Given the description of an element on the screen output the (x, y) to click on. 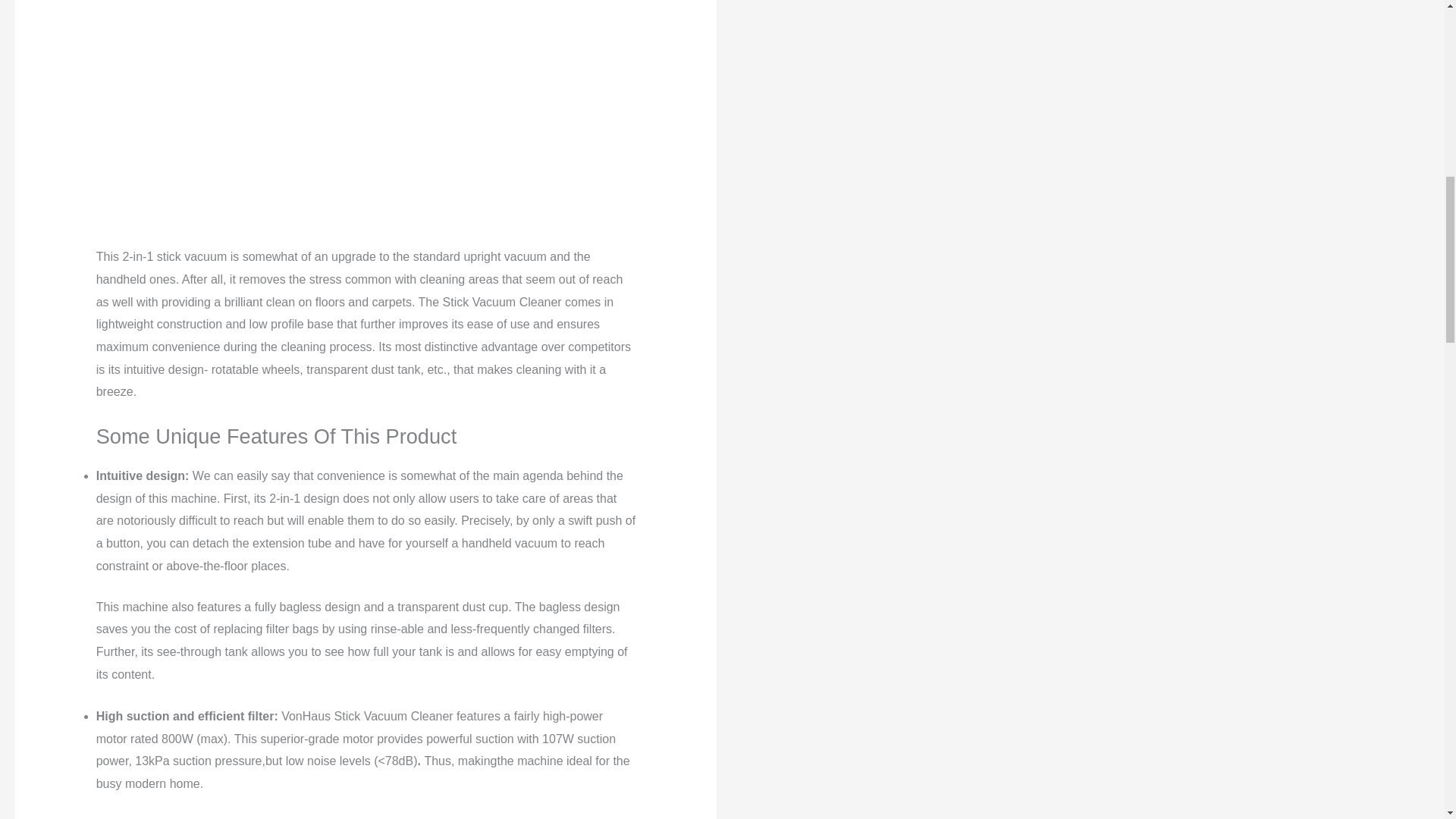
VonHaus 2 in 1 Stick Vacuum (366, 116)
